Given the description of an element on the screen output the (x, y) to click on. 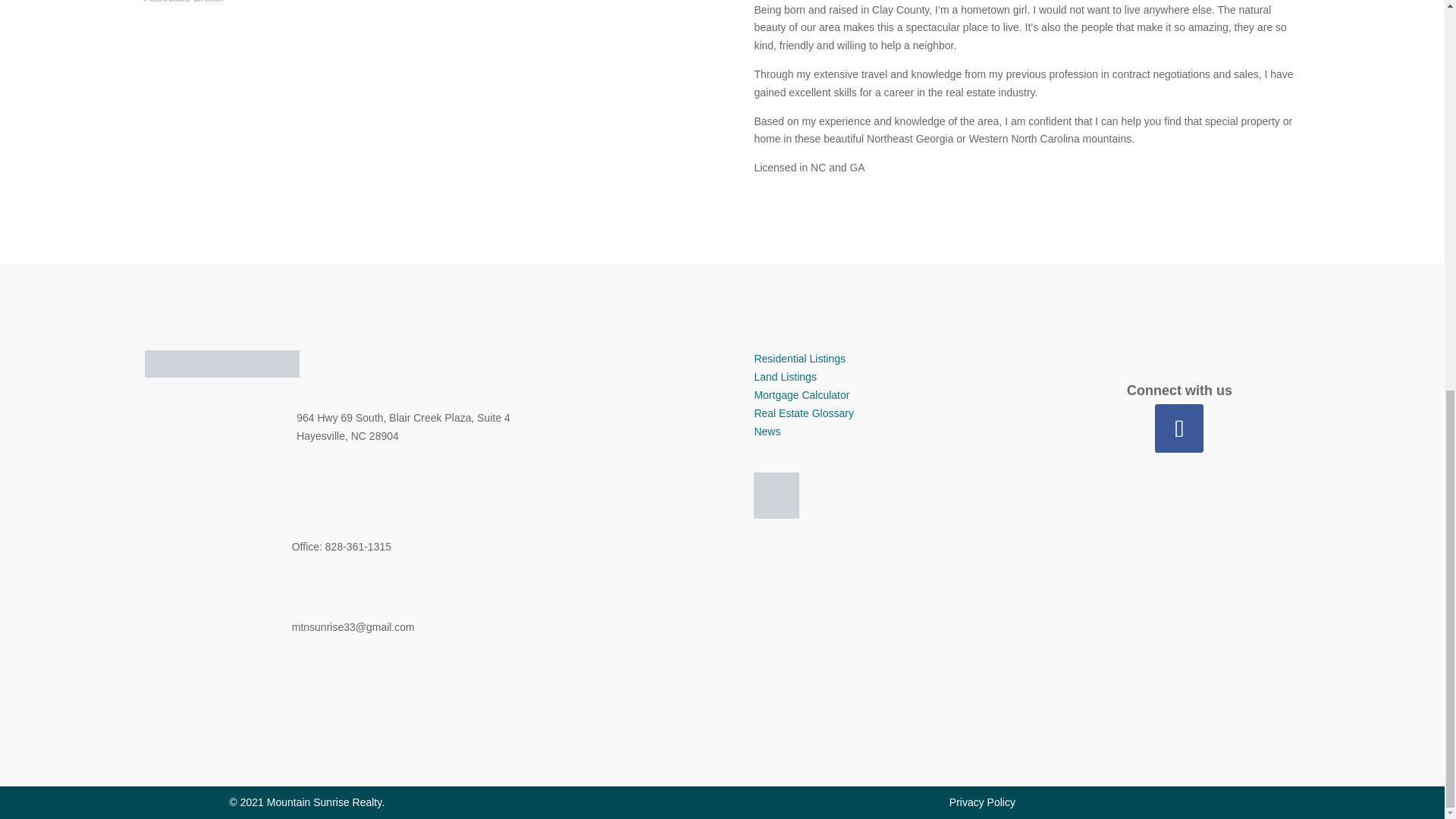
Follow on Facebook (1179, 428)
News (767, 431)
Mortgage Calculator (801, 395)
Residential Listings (799, 358)
Privacy Policy (981, 802)
Land Listings (785, 377)
Real Estate Glossary (803, 413)
